Given the description of an element on the screen output the (x, y) to click on. 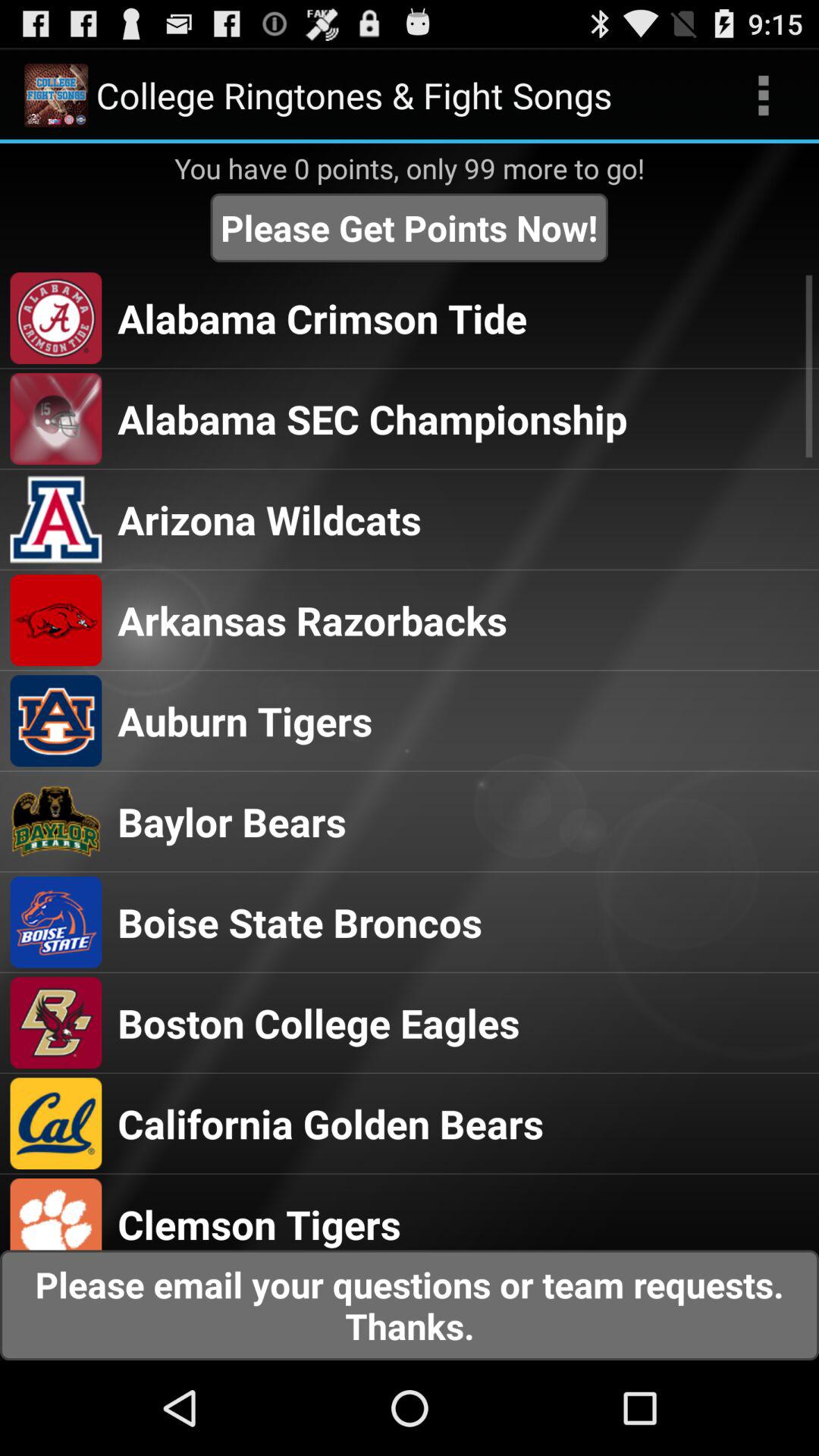
click the boston college eagles app (318, 1022)
